Given the description of an element on the screen output the (x, y) to click on. 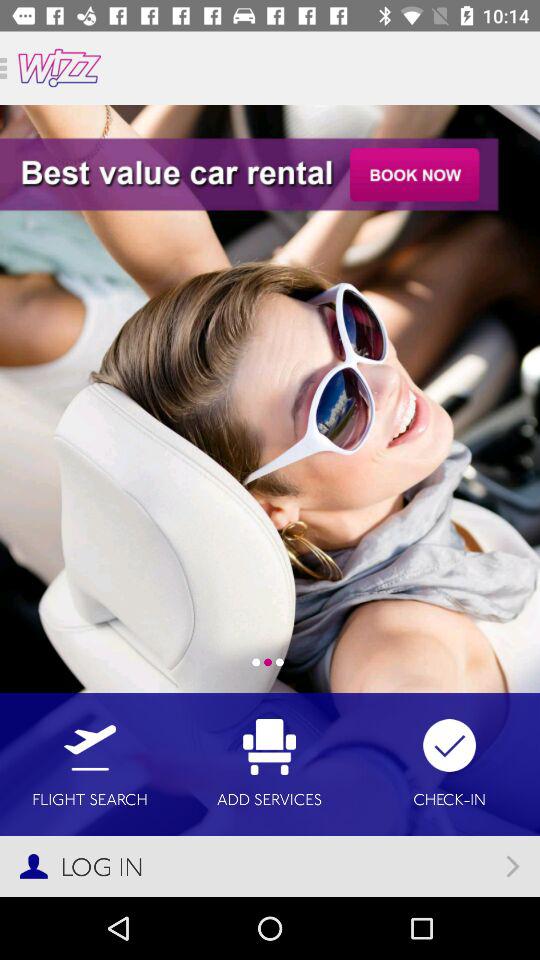
choose the item next to check-in icon (269, 764)
